Given the description of an element on the screen output the (x, y) to click on. 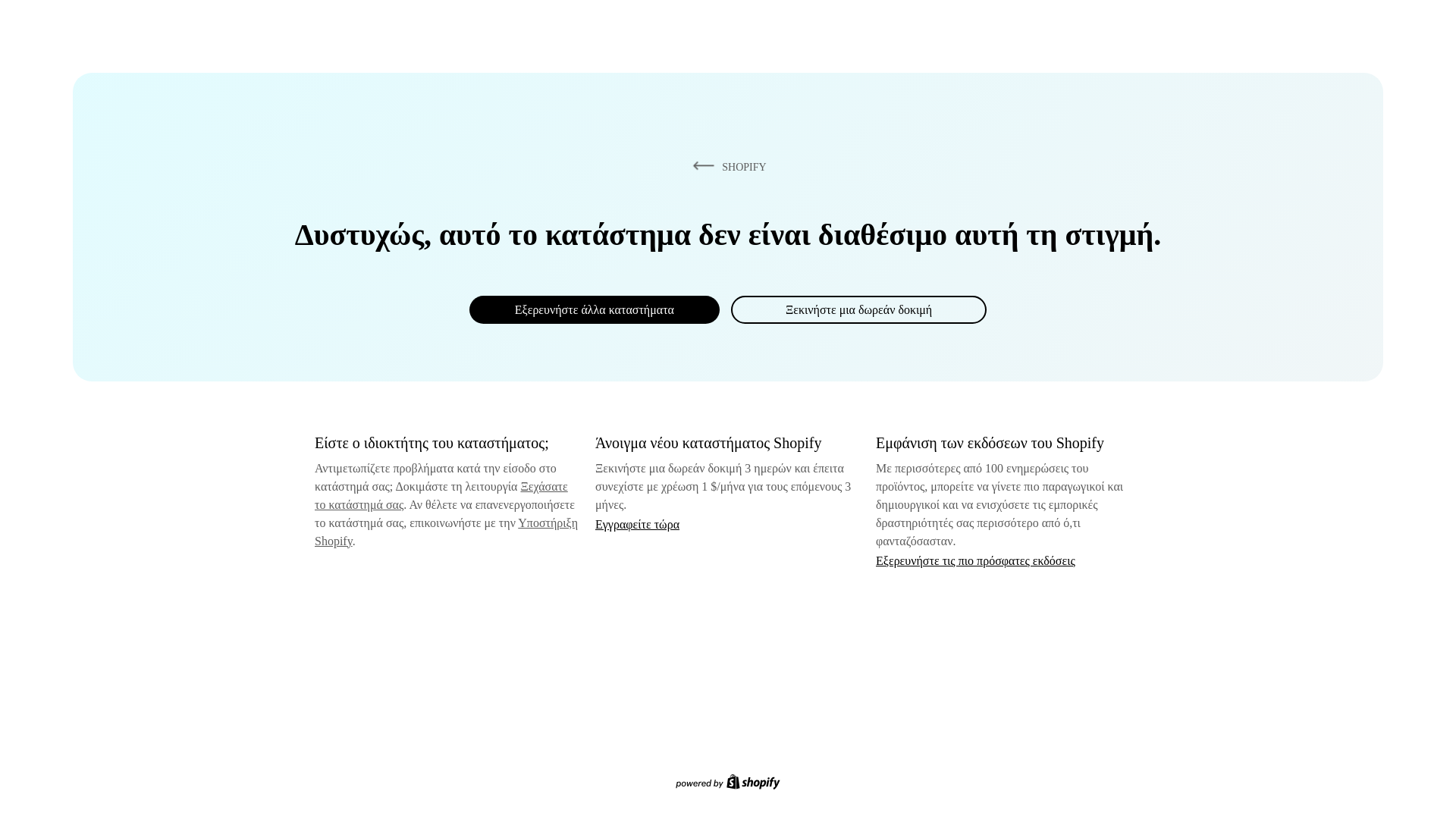
SHOPIFY (726, 166)
